Given the description of an element on the screen output the (x, y) to click on. 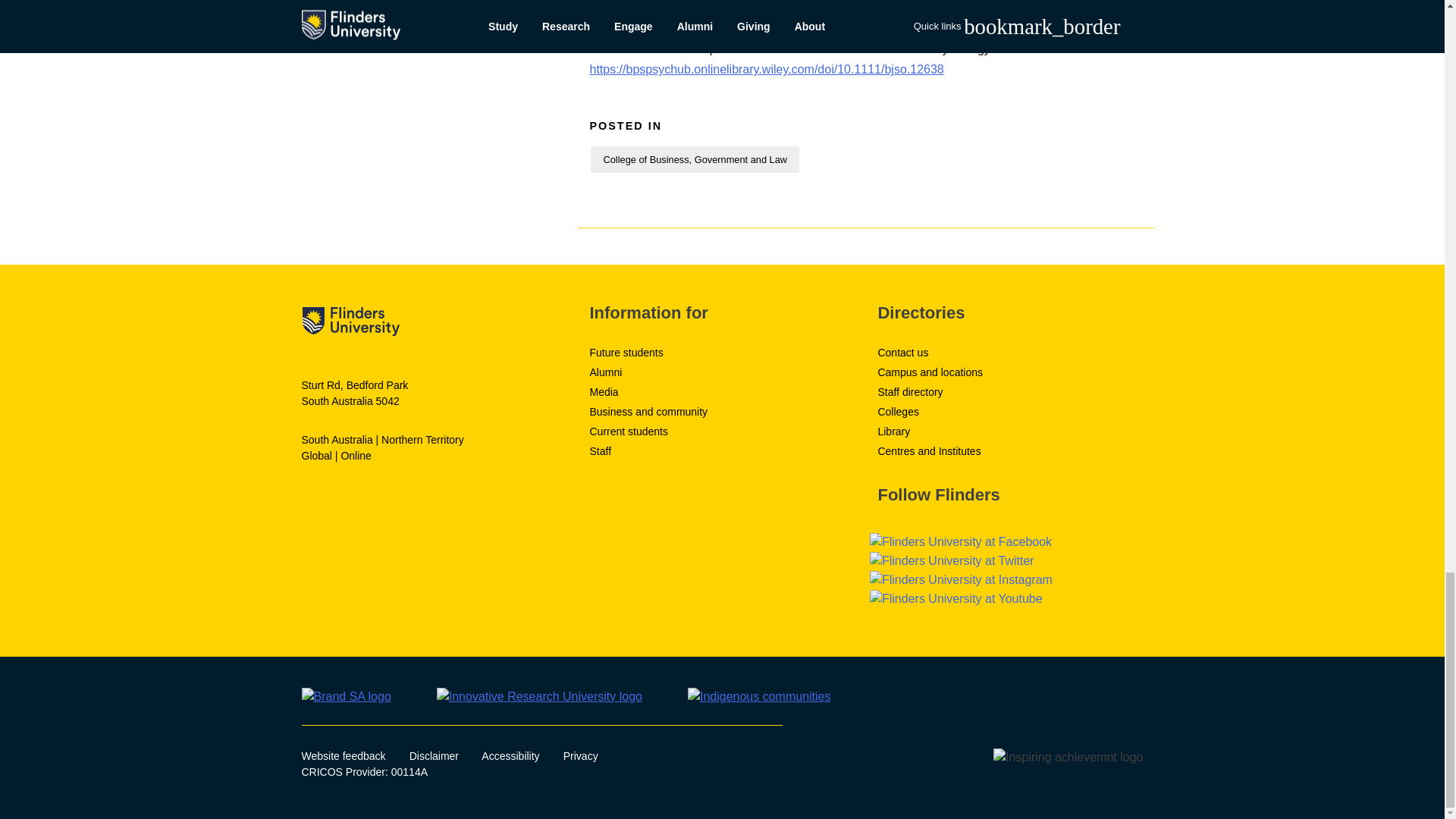
Future students (625, 352)
Business and community (648, 411)
Media (603, 391)
Contact us (902, 352)
Staff (600, 451)
Alumni (605, 372)
College of Business, Government and Law (695, 159)
Current students (628, 431)
